Given the description of an element on the screen output the (x, y) to click on. 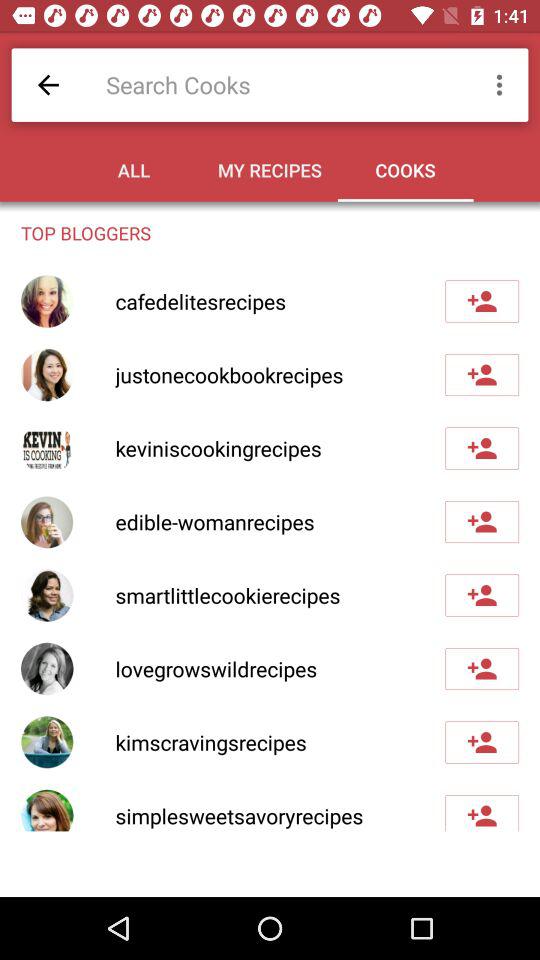
add the blogger (482, 448)
